Given the description of an element on the screen output the (x, y) to click on. 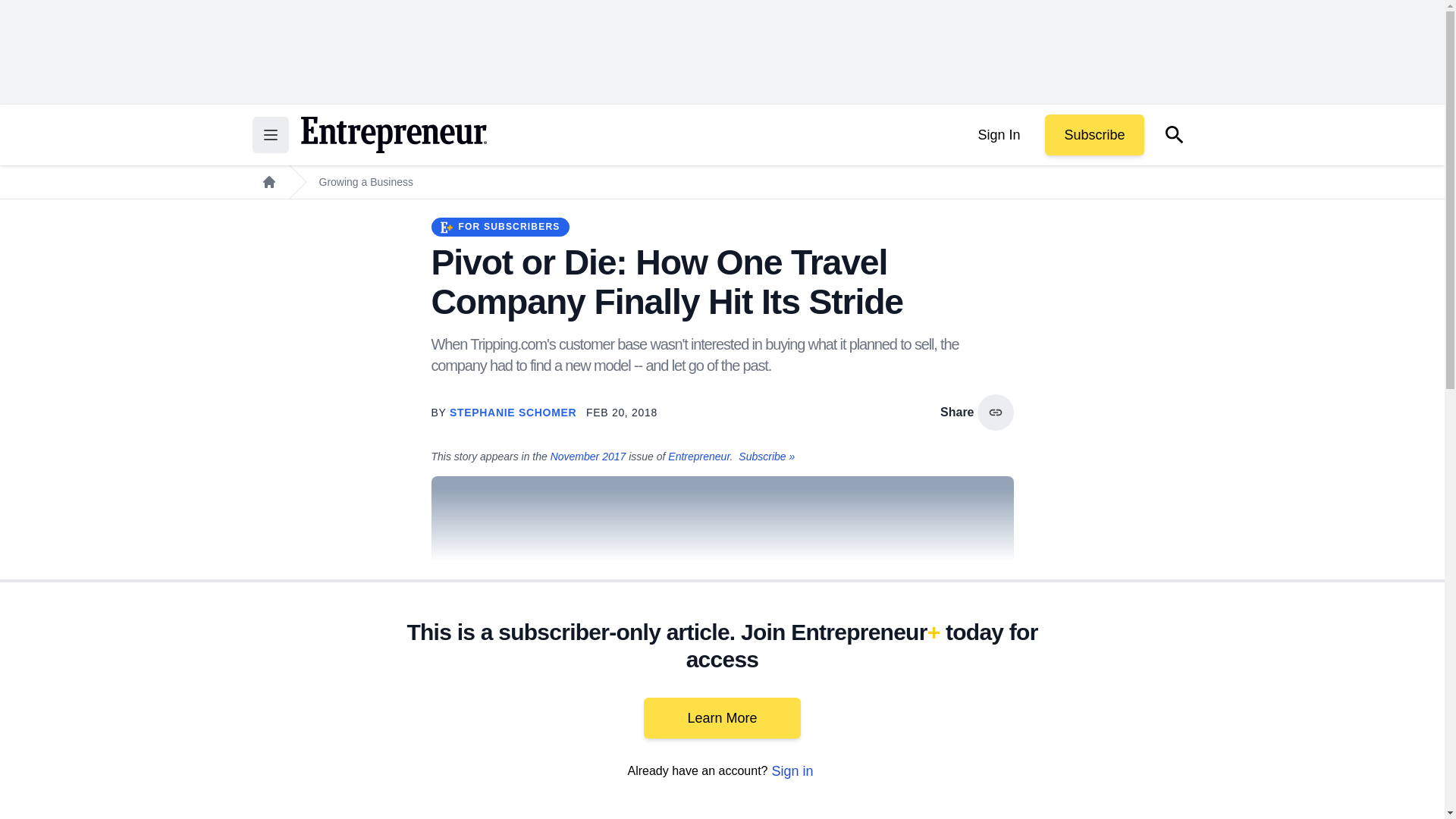
Return to the home page (392, 135)
copy (994, 411)
Subscribe (1093, 134)
Sign In (998, 134)
